Given the description of an element on the screen output the (x, y) to click on. 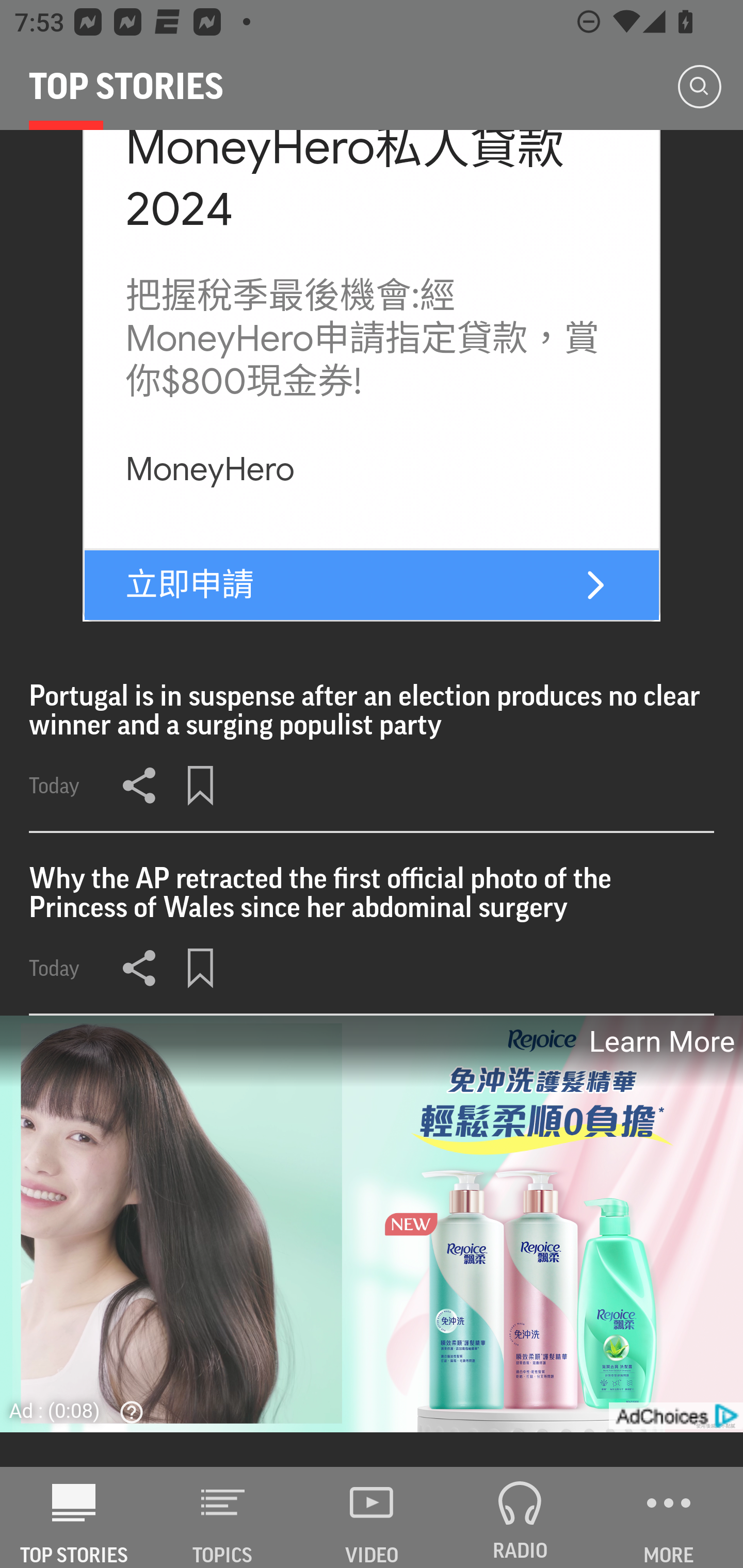
MoneyHero私人貸款 2024 MoneyHero私人貸款 2024 (344, 184)
MoneyHero (209, 469)
tax-loan%3Fgclsrc%3Daw (594, 584)
立即申請 (189, 584)
Learn More (660, 1041)
Ad : (0:08) Why This Ad? (82, 1410)
Why This Ad? (126, 1411)
get?name=admarker-full-tl (675, 1415)
AP News TOP STORIES (74, 1517)
TOPICS (222, 1517)
VIDEO (371, 1517)
RADIO (519, 1517)
MORE (668, 1517)
